Given the description of an element on the screen output the (x, y) to click on. 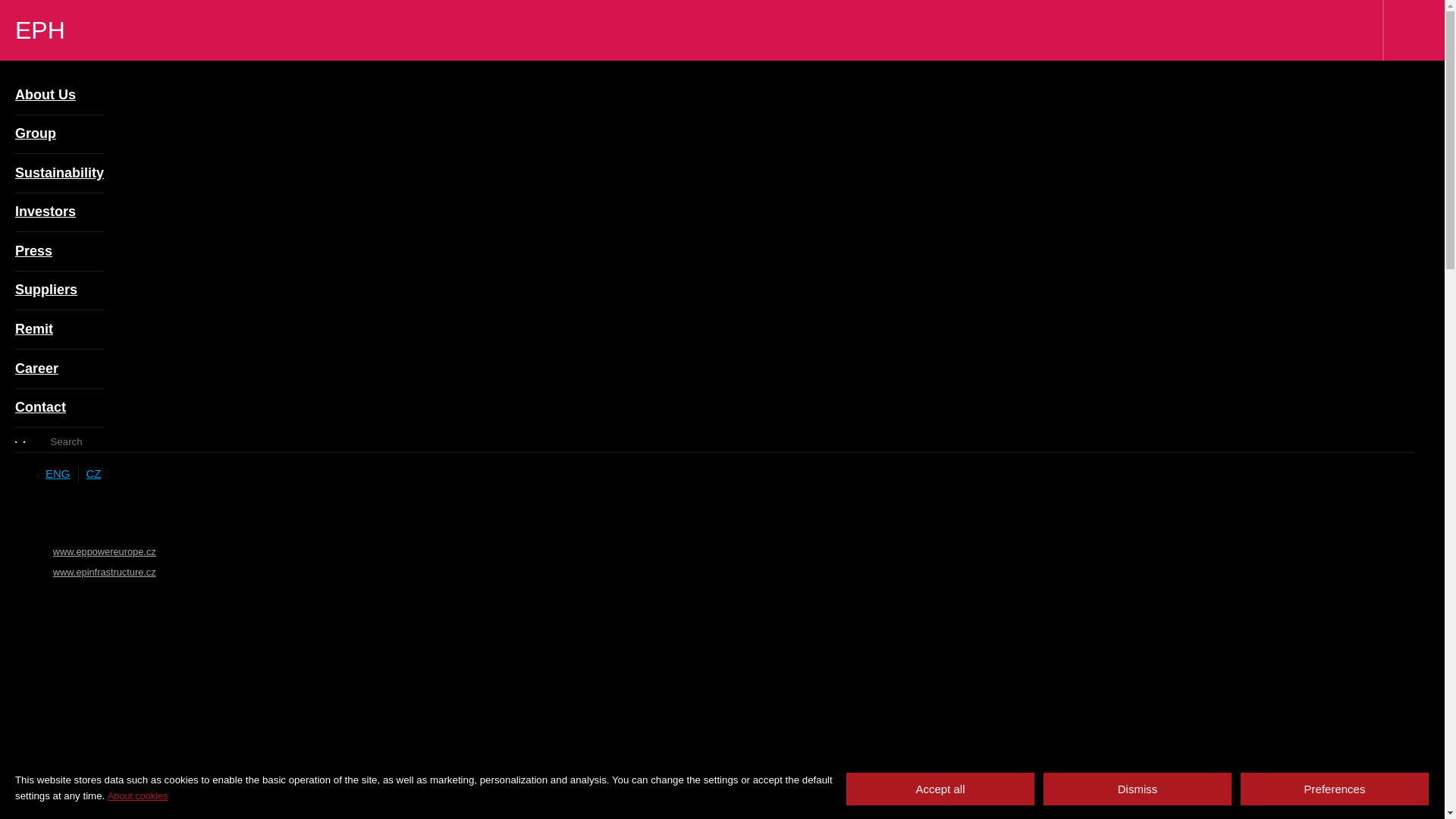
Investors (58, 212)
About Us (58, 95)
Preferences (1334, 788)
EP Infrastructure (1240, 34)
Search (1319, 368)
Accept all (940, 788)
Sustainability (58, 173)
About cookies (137, 796)
Dismiss (1136, 788)
Search (29, 442)
EP Power Europe (1115, 34)
EP Infrastructure (103, 572)
Group (58, 134)
EP Power Europe (103, 552)
